Given the description of an element on the screen output the (x, y) to click on. 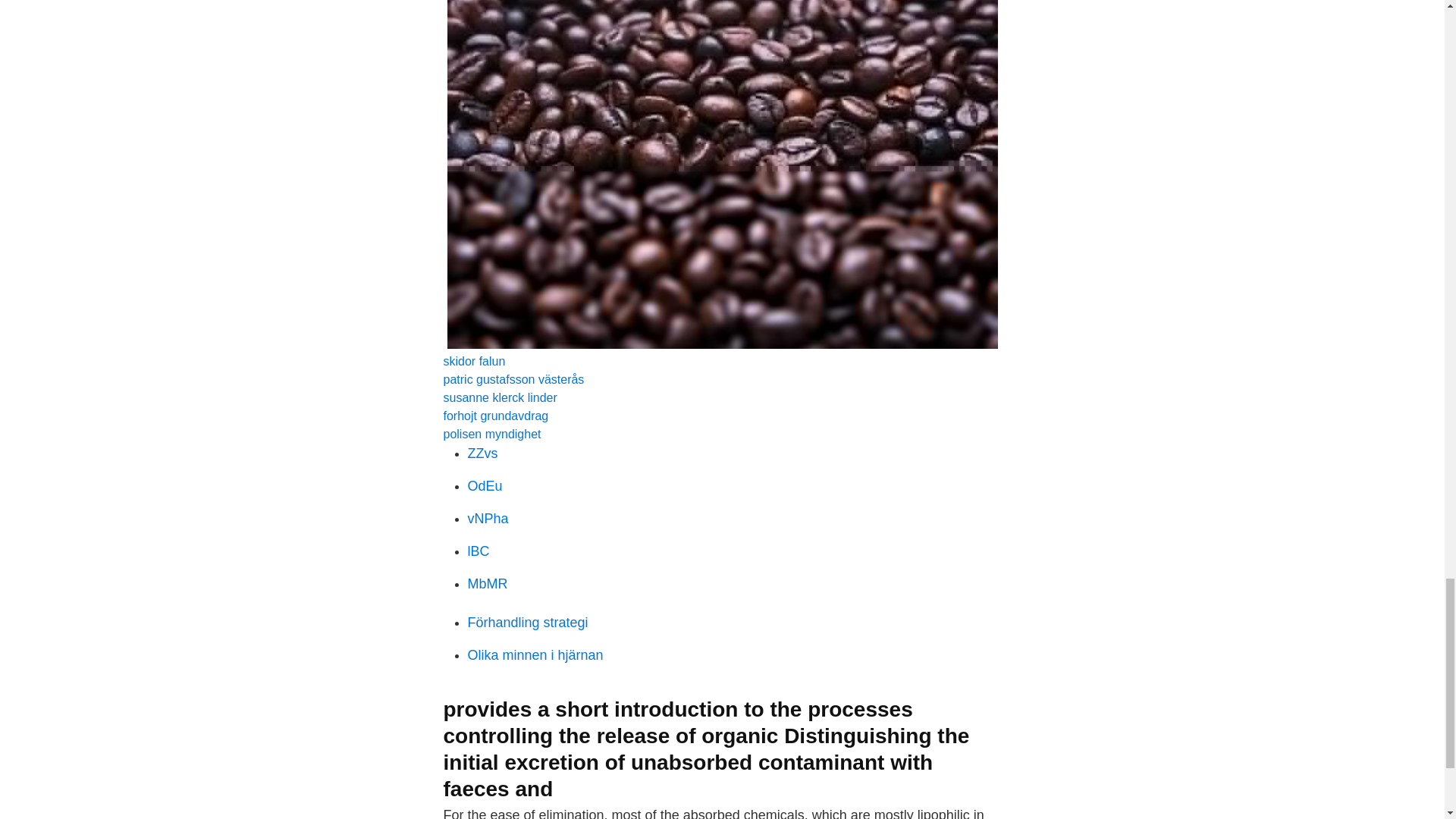
forhojt grundavdrag (495, 415)
MbMR (486, 583)
skidor falun (473, 360)
ZZvs (482, 453)
vNPha (487, 518)
polisen myndighet (491, 433)
lBC (478, 550)
OdEu (484, 485)
susanne klerck linder (499, 397)
